Given the description of an element on the screen output the (x, y) to click on. 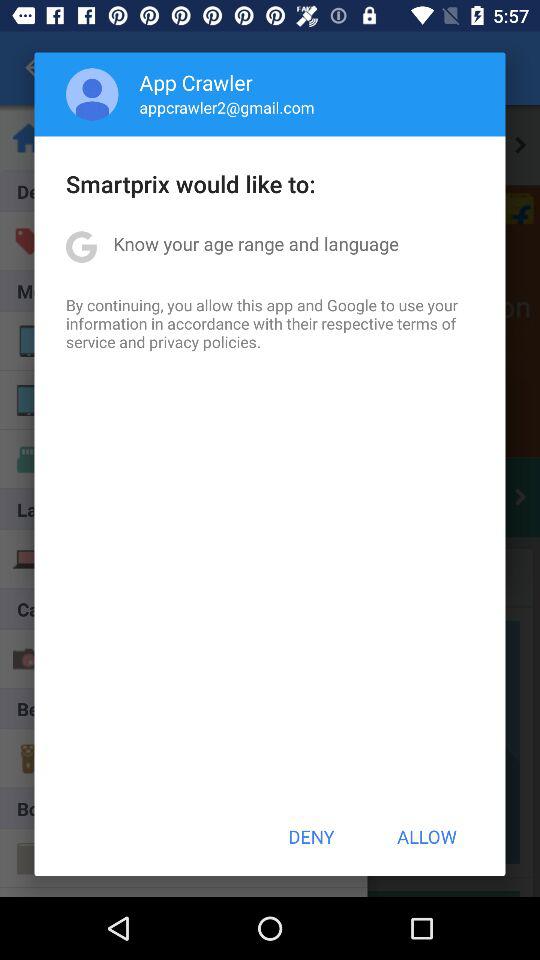
click item at the bottom (311, 836)
